Given the description of an element on the screen output the (x, y) to click on. 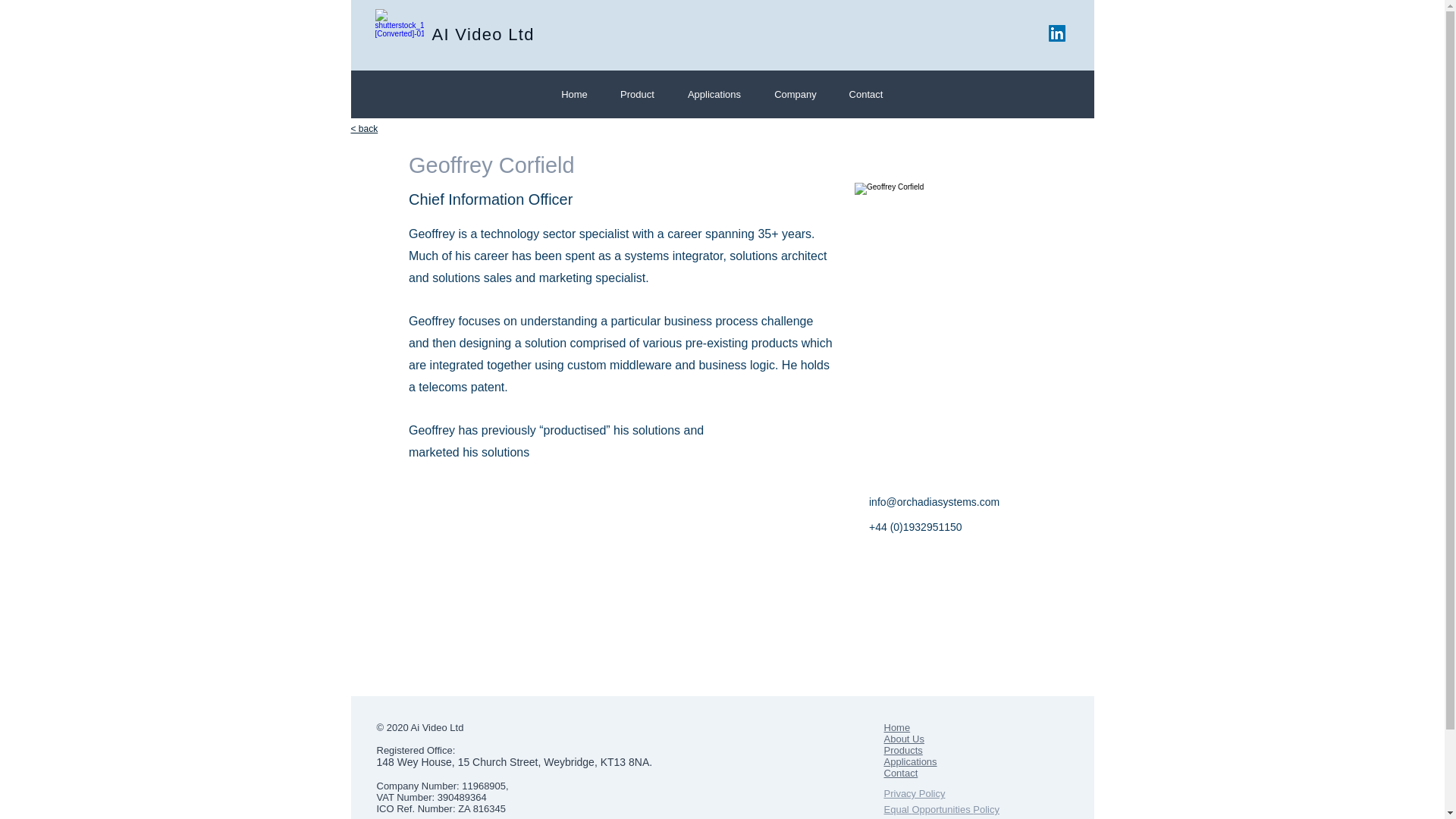
Product (636, 94)
Privacy Policy (913, 793)
About Us (903, 738)
Geoffrey-image1-retouch-1024x1024.jpg (1002, 330)
Contact (900, 772)
Home (897, 727)
AI Video Ltd (483, 34)
Applications (910, 761)
Products (903, 749)
Home (574, 94)
Applications (713, 94)
Company (795, 94)
Equal Opportunities Policy (941, 808)
Contact (865, 94)
